Given the description of an element on the screen output the (x, y) to click on. 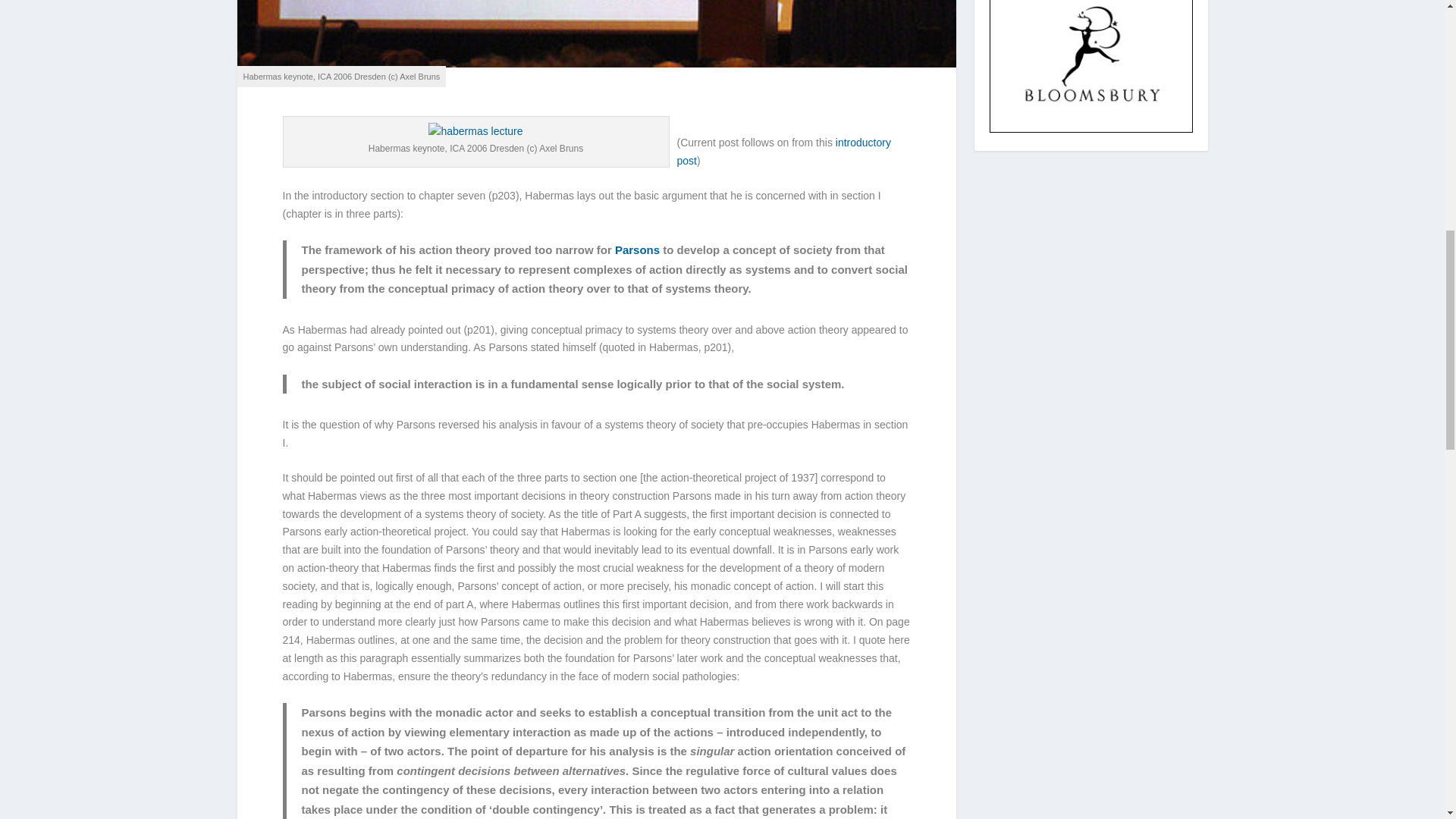
Talcott Parsons (636, 249)
Habermas3 (475, 131)
